Given the description of an element on the screen output the (x, y) to click on. 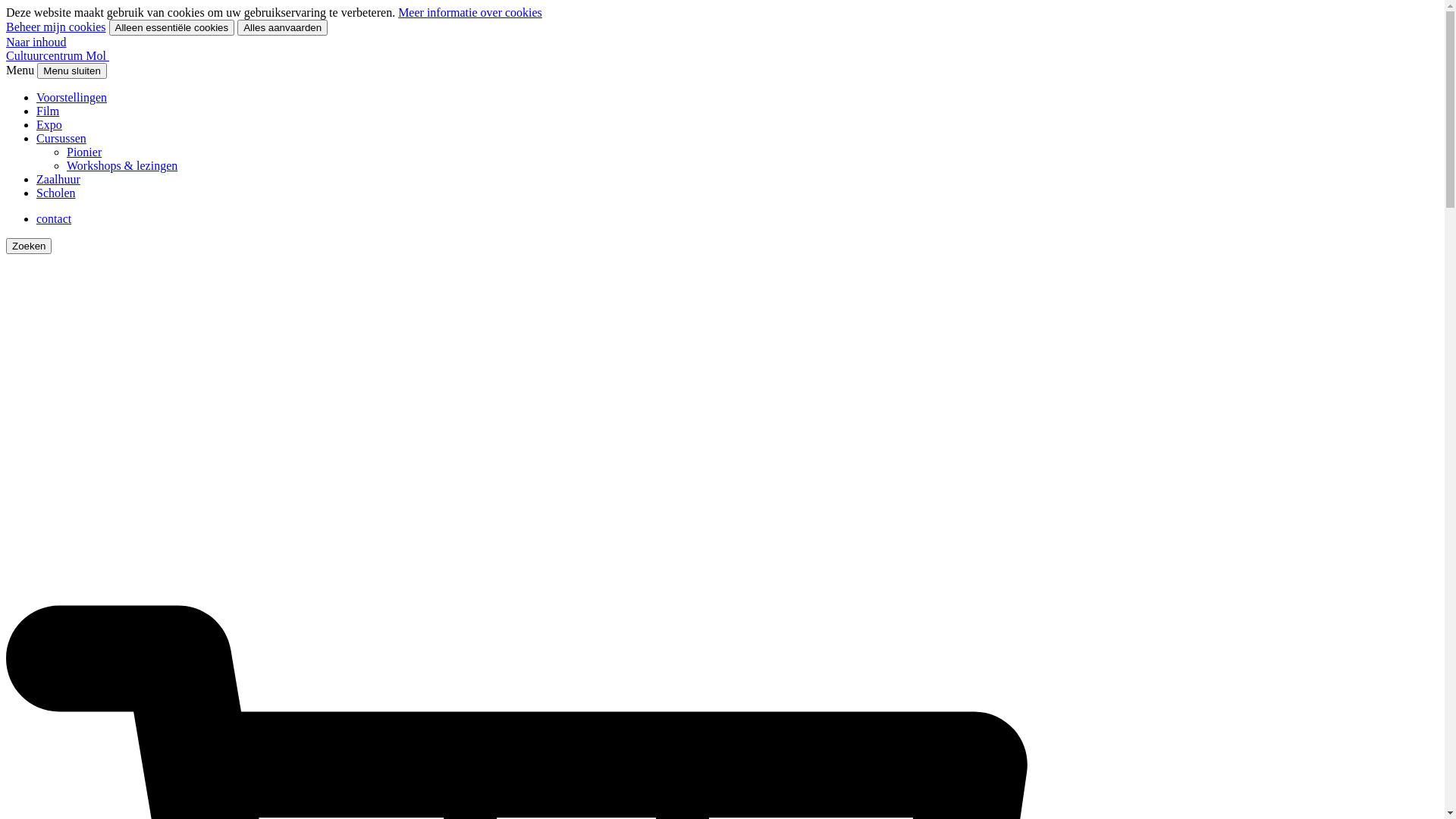
Meer informatie over cookies Element type: text (470, 12)
Voorstellingen Element type: text (71, 97)
Pionier Element type: text (83, 151)
contact Element type: text (53, 218)
Zaalhuur Element type: text (58, 178)
Expo Element type: text (49, 124)
Menu sluiten Element type: text (71, 70)
Alles aanvaarden Element type: text (282, 27)
Cultuurcentrum Mol Element type: text (57, 55)
Naar inhoud Element type: text (36, 41)
Cursussen Element type: text (61, 137)
Scholen Element type: text (55, 192)
Beheer mijn cookies Element type: text (56, 26)
Zoeken Element type: text (28, 246)
Workshops & lezingen Element type: text (121, 165)
Film Element type: text (47, 110)
